Given the description of an element on the screen output the (x, y) to click on. 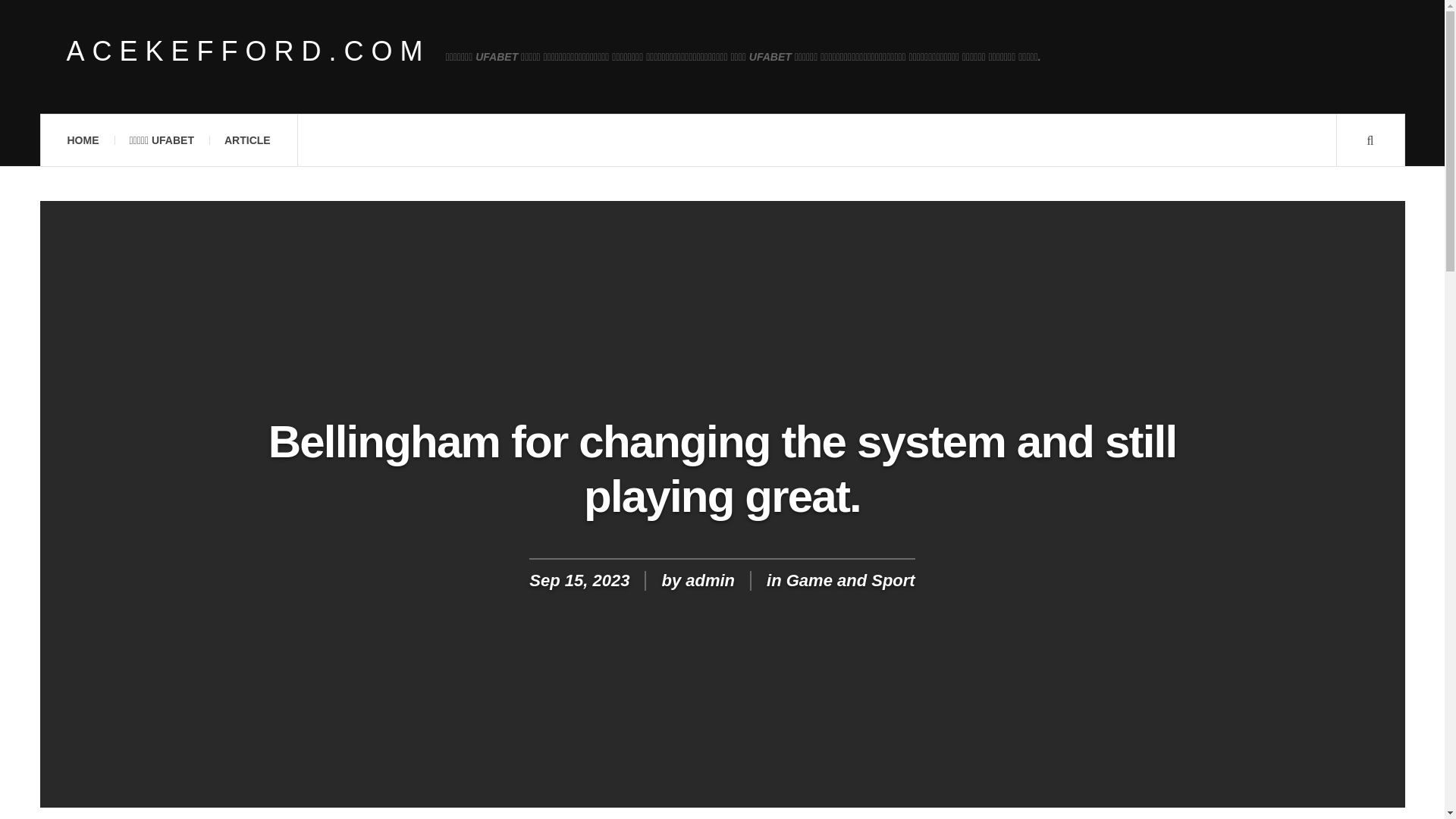
admin (710, 579)
View all posts in Game and Sport (850, 579)
acekefford.com (248, 51)
ACEKEFFORD.COM (248, 51)
HOME (81, 140)
Game and Sport (850, 579)
ARTICLE (247, 140)
